Given the description of an element on the screen output the (x, y) to click on. 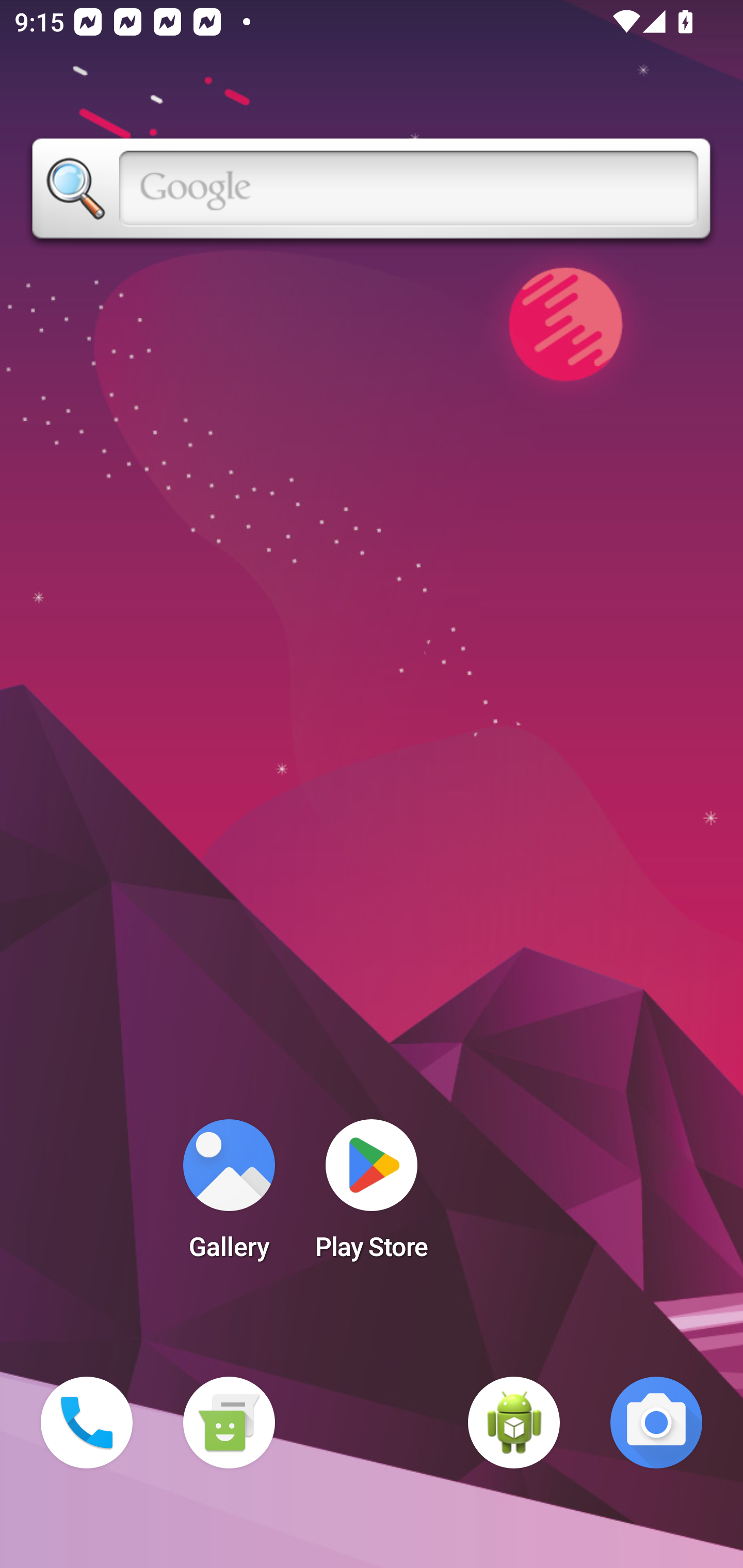
Gallery (228, 1195)
Play Store (371, 1195)
Phone (86, 1422)
Messaging (228, 1422)
WebView Browser Tester (513, 1422)
Camera (656, 1422)
